Given the description of an element on the screen output the (x, y) to click on. 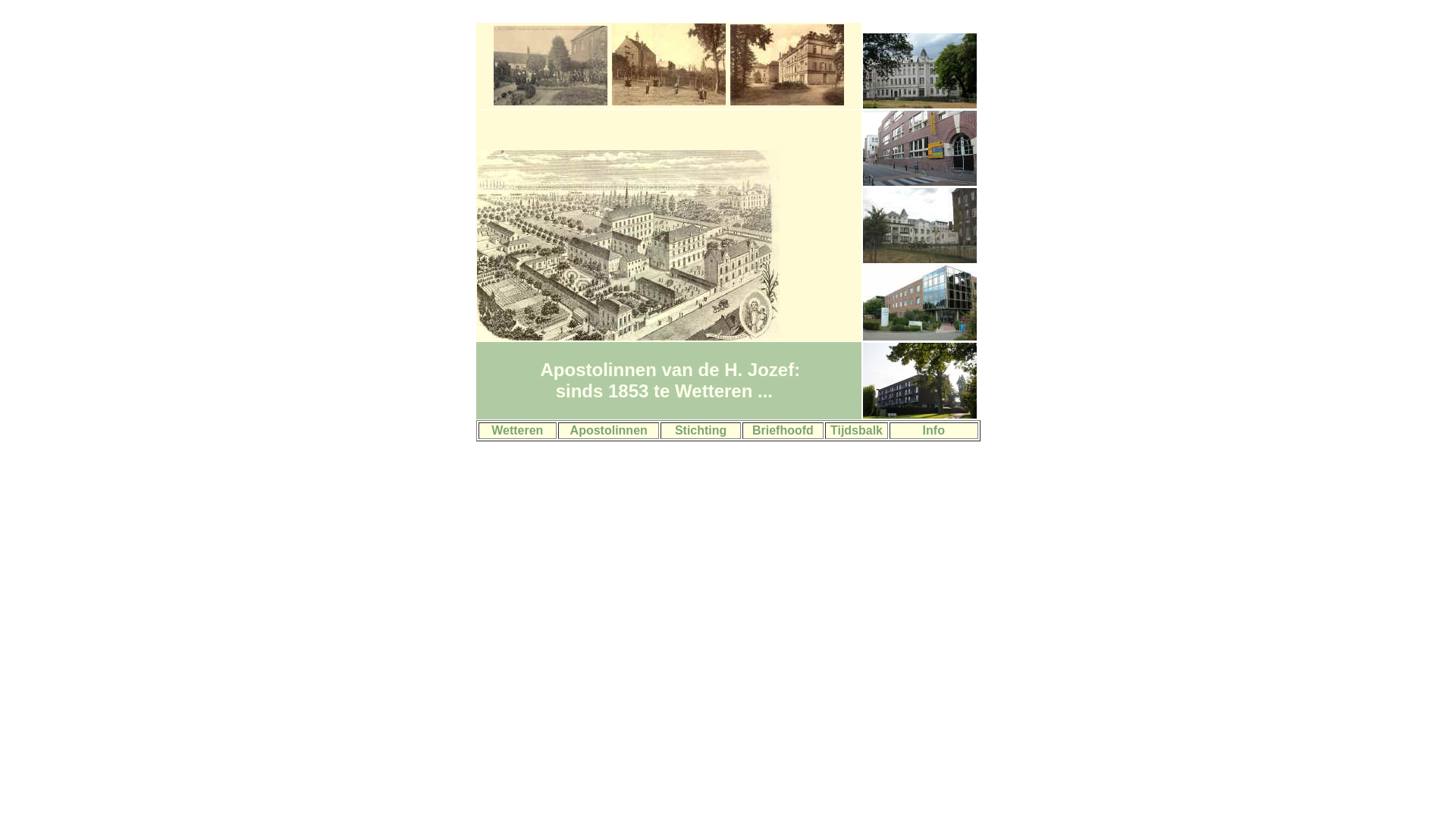
Stichting Element type: text (700, 429)
Wetteren Element type: text (516, 429)
Info Element type: text (933, 429)
Apostolinnen Element type: text (608, 429)
Tijdsbalk Element type: text (856, 429)
Briefhoofd Element type: text (782, 429)
